Given the description of an element on the screen output the (x, y) to click on. 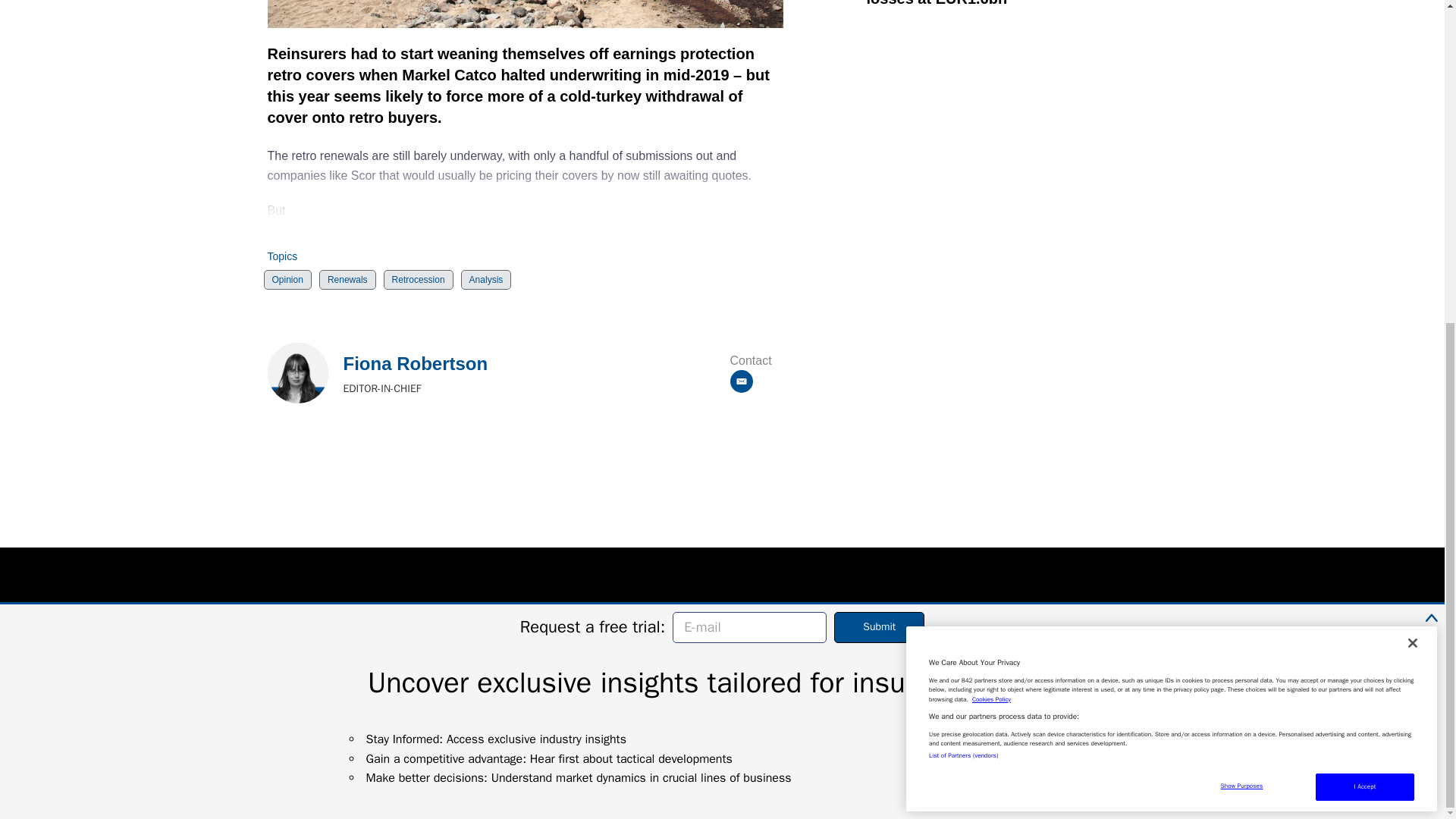
Submit (879, 101)
